Given the description of an element on the screen output the (x, y) to click on. 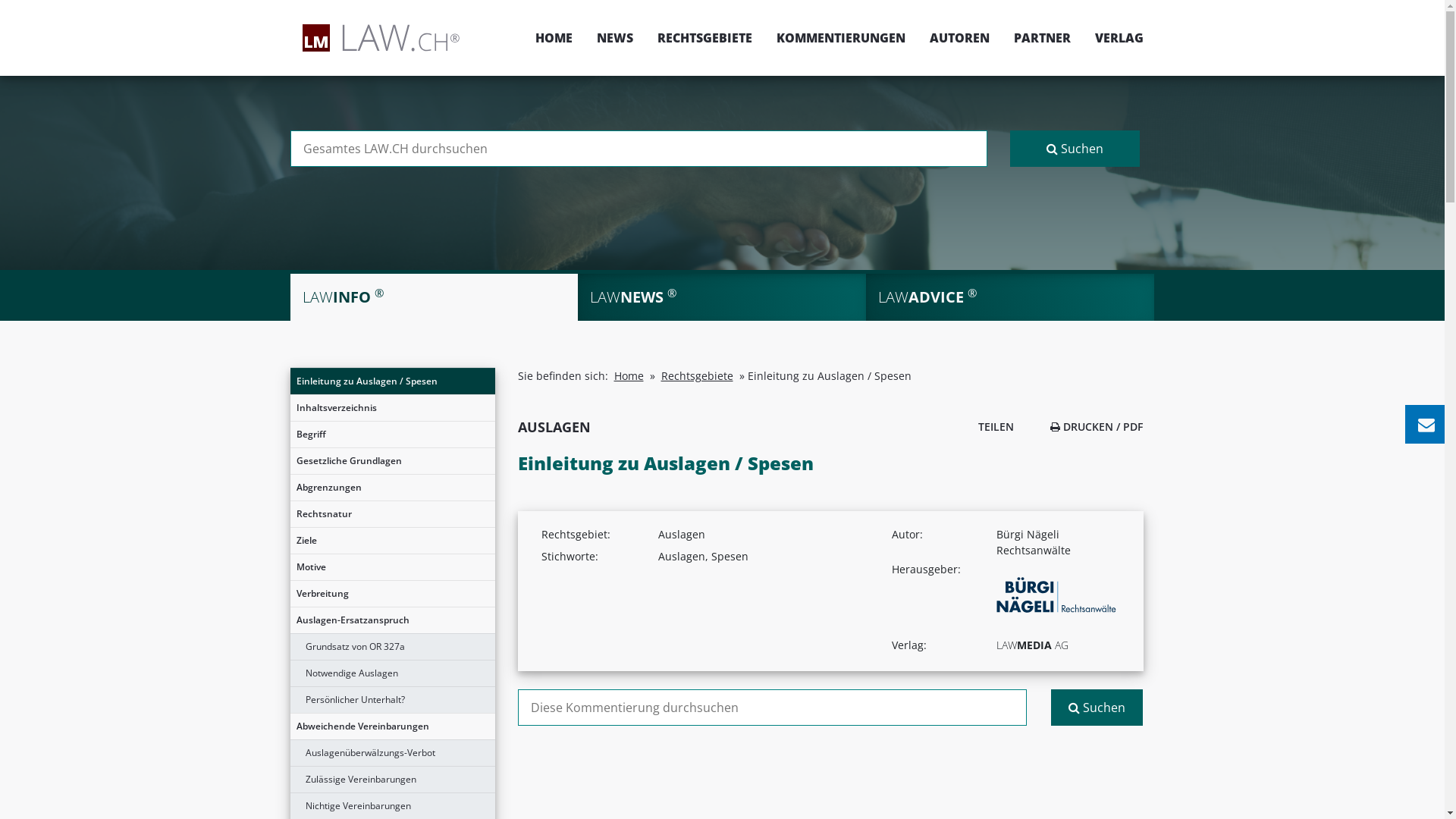
 TEILEN Element type: text (991, 426)
Rechtsgebiete Element type: text (697, 375)
NEWS Element type: text (613, 37)
Gesetzliche Grundlagen Element type: text (391, 460)
Grundsatz von OR 327a Element type: text (391, 646)
Auslagen-Ersatzanspruch Element type: text (391, 620)
Inhaltsverzeichnis Element type: text (391, 407)
Motive Element type: text (391, 567)
Rechtsnatur Element type: text (391, 514)
KOMMENTIERUNGEN Element type: text (840, 37)
Skip to content Element type: text (1443, 0)
VERLAG Element type: text (1112, 37)
Home Element type: text (628, 375)
Verbreitung Element type: text (391, 593)
Abgrenzungen Element type: text (391, 487)
Suchen nach: Element type: hover (771, 707)
RECHTSGEBIETE Element type: text (703, 37)
Ziele Element type: text (391, 540)
Begriff Element type: text (391, 434)
Abweichende Vereinbarungen Element type: text (391, 726)
HOME Element type: text (553, 37)
AUTOREN Element type: text (959, 37)
Notwendige Auslagen Element type: text (391, 673)
Einleitung zu Auslagen / Spesen Element type: text (391, 381)
Suchen nach: Element type: hover (637, 148)
PARTNER Element type: text (1041, 37)
 DRUCKEN / PDF Element type: text (1096, 426)
